Given the description of an element on the screen output the (x, y) to click on. 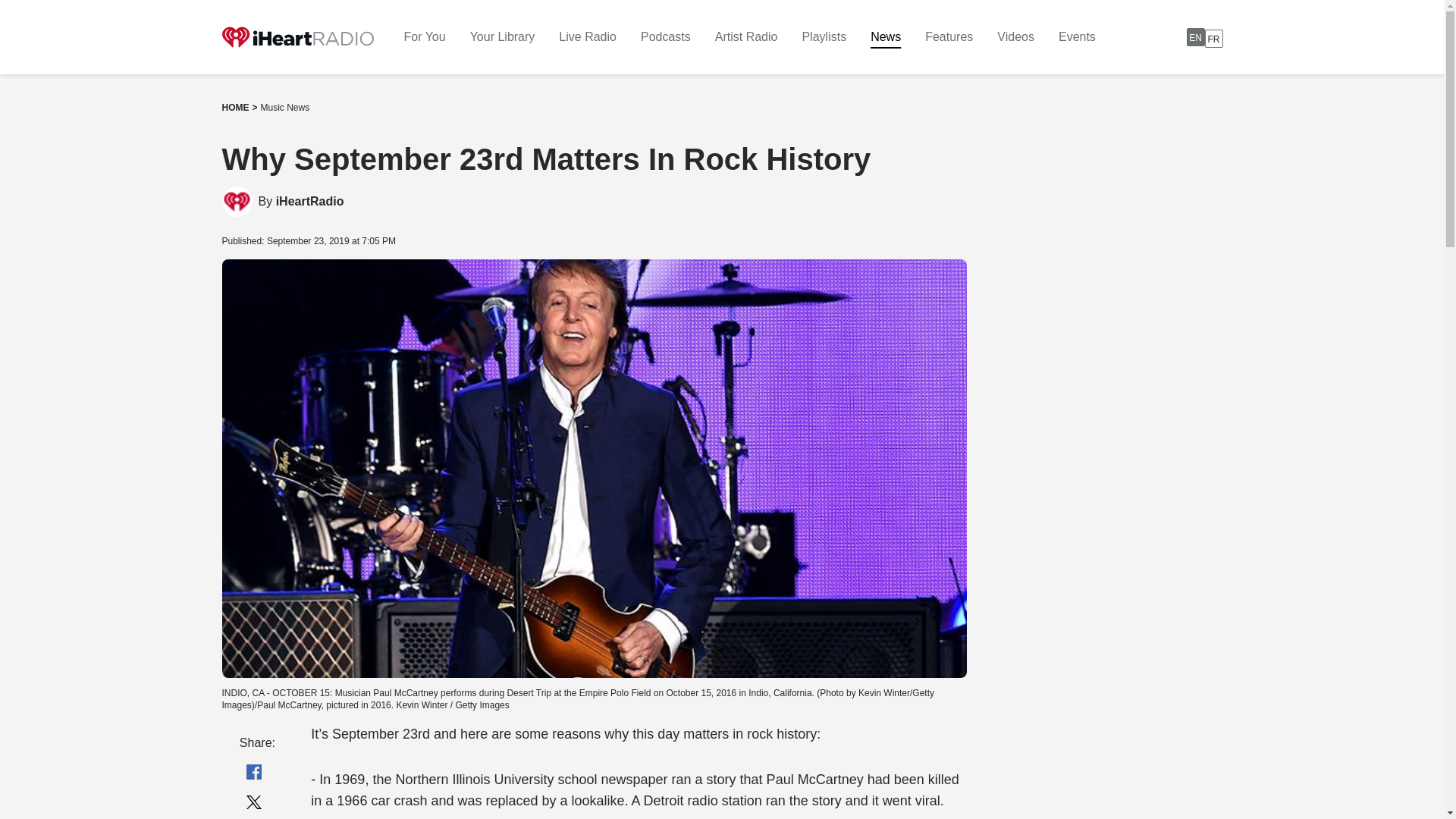
HOME (234, 107)
Live Radio (1204, 36)
Music News (587, 36)
iHeartRadio   (285, 107)
iHeartRadio (309, 201)
Features (309, 201)
Podcasts (948, 36)
Artist Radio (665, 36)
Playlists (745, 36)
